Given the description of an element on the screen output the (x, y) to click on. 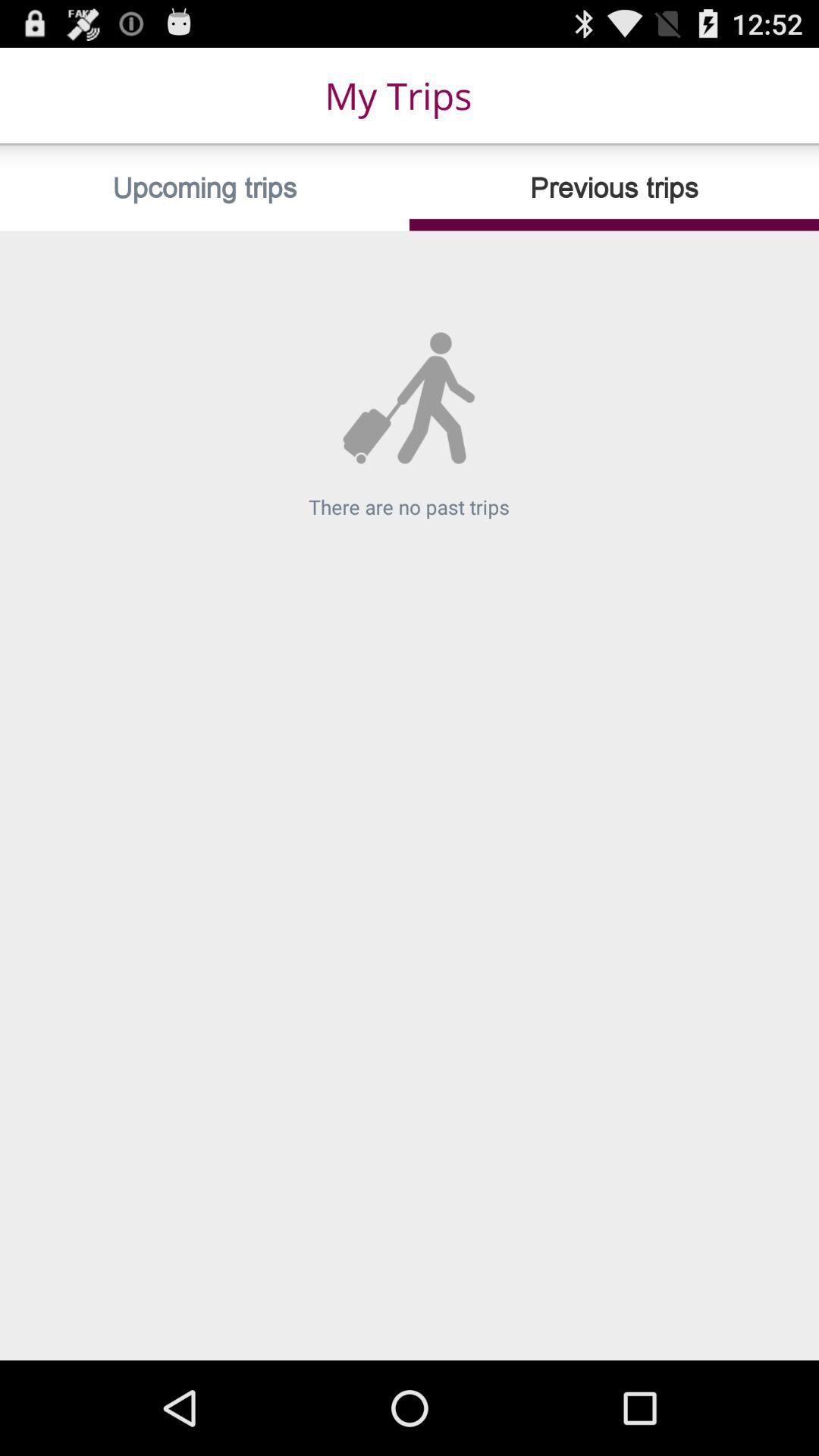
open the previous trips item (614, 187)
